Given the description of an element on the screen output the (x, y) to click on. 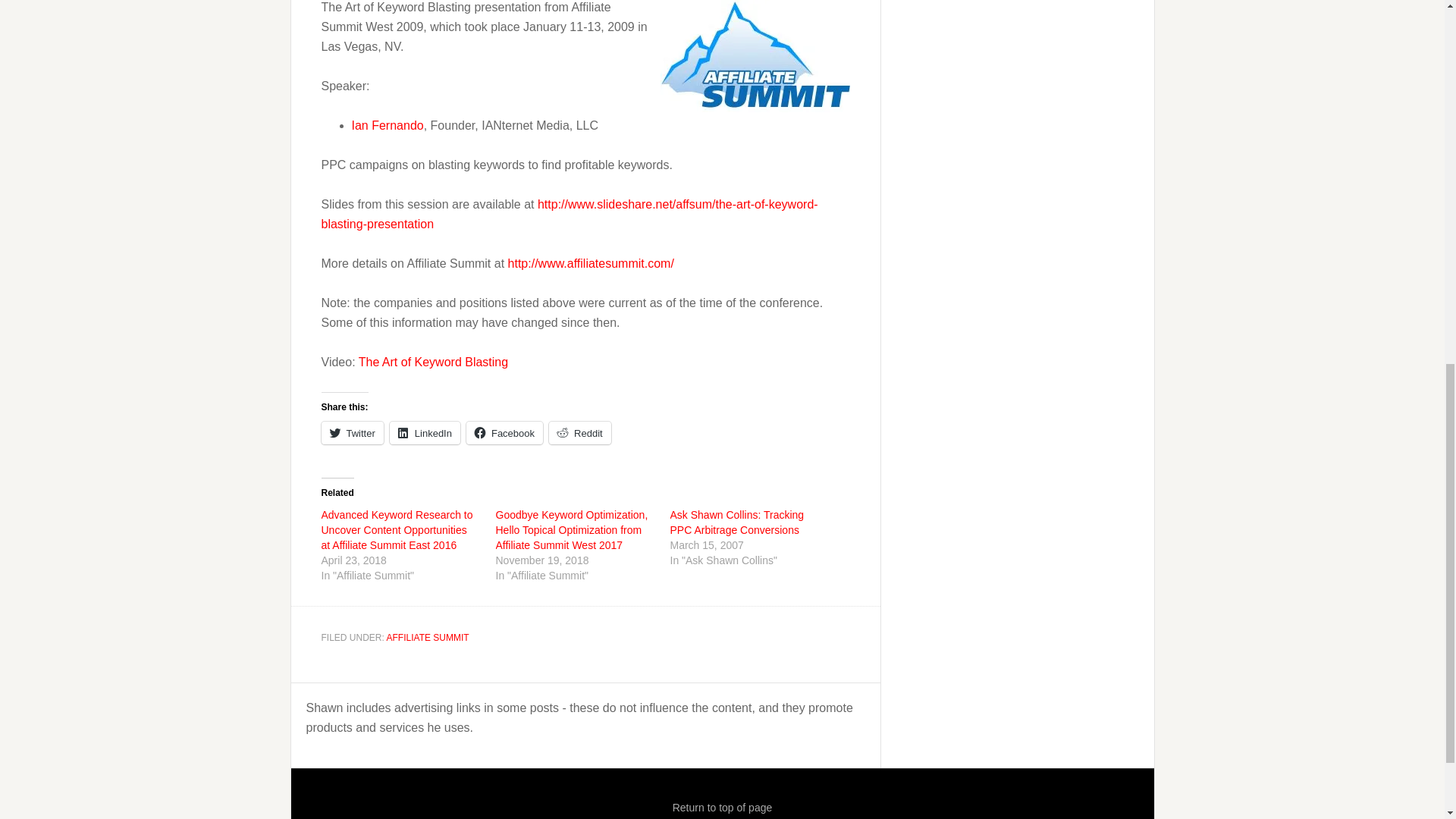
Ian Fernando (387, 124)
Facebook (504, 432)
Reddit (579, 432)
LinkedIn (425, 432)
Click to share on Reddit (579, 432)
Ask Shawn Collins: Tracking PPC Arbitrage Conversions (737, 522)
AFFILIATE SUMMIT (427, 637)
Return to top of page (722, 807)
Click to share on Facebook (504, 432)
The Art of Keyword Blasting (433, 361)
Click to share on LinkedIn (425, 432)
Twitter (352, 432)
